Given the description of an element on the screen output the (x, y) to click on. 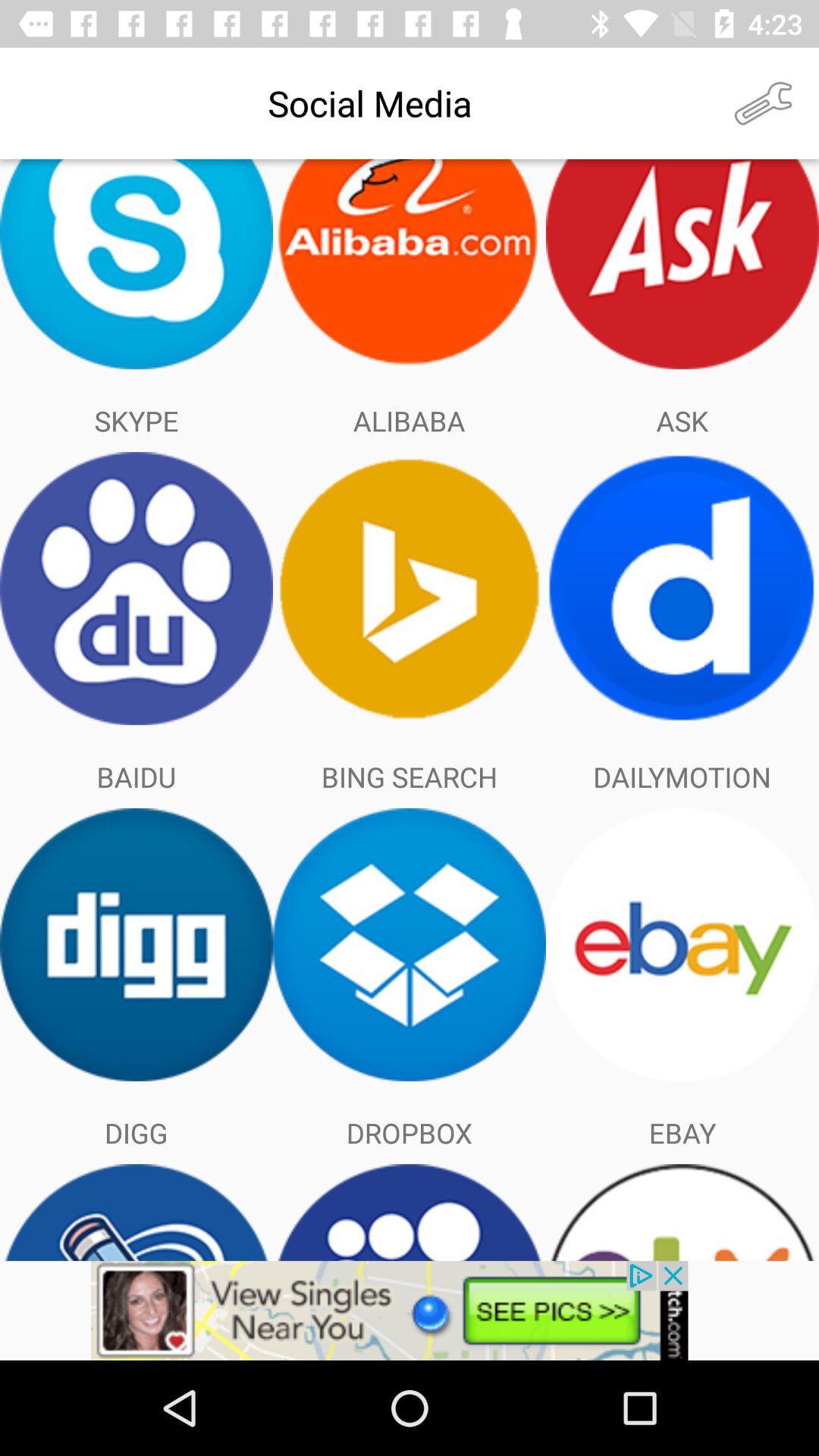
toggle to advertisement box (409, 1310)
